Given the description of an element on the screen output the (x, y) to click on. 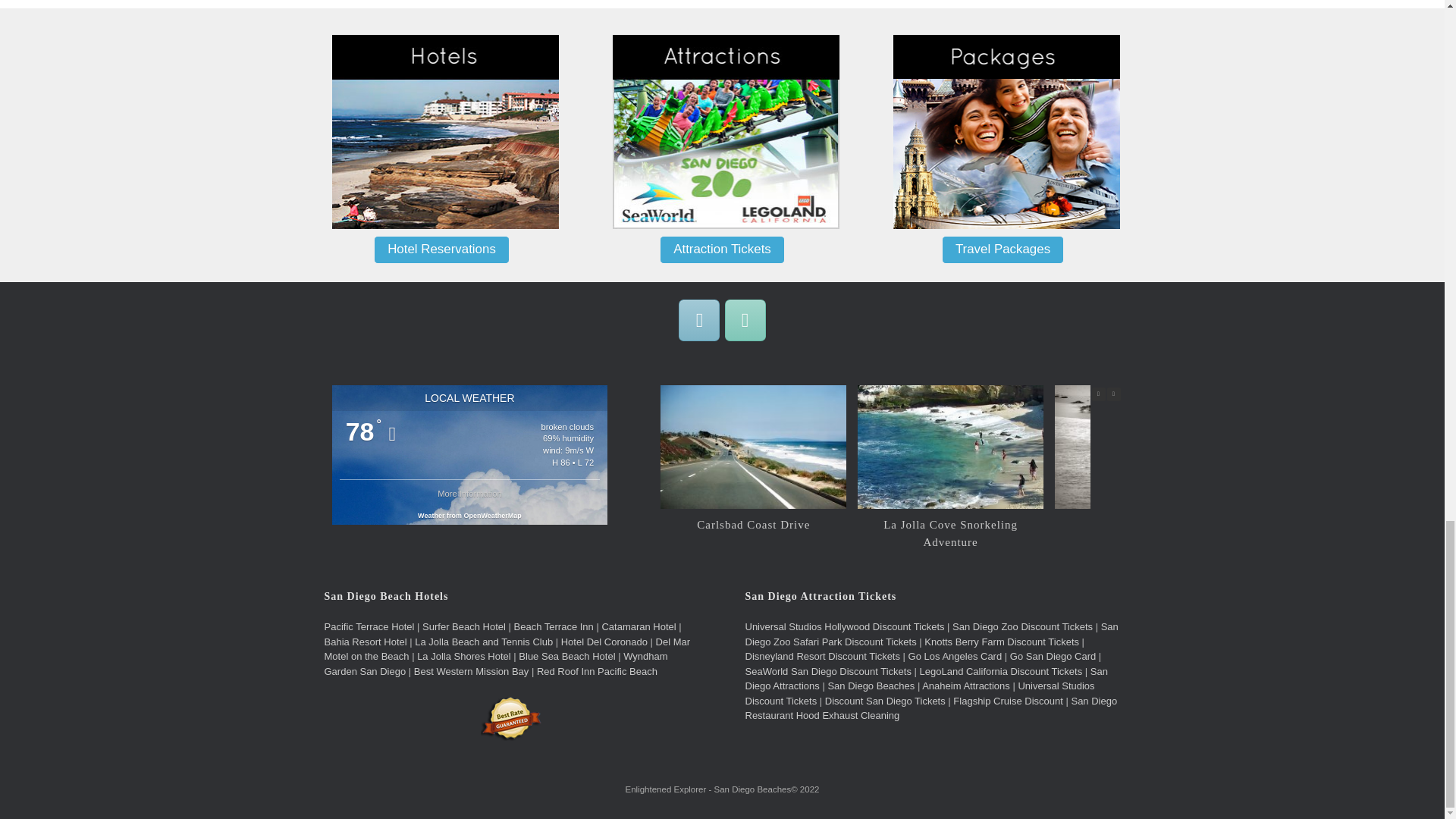
Next (1113, 394)
Discount Attraction Tickets (726, 132)
San Diego Travel Packages (1007, 132)
San Diego Beaches Guide on Instagram (745, 320)
Hotel Reservations (441, 249)
The Best Deals on Hotels (445, 132)
San Diego Beaches Guide on Facebook (698, 320)
Previous (1098, 394)
